Given the description of an element on the screen output the (x, y) to click on. 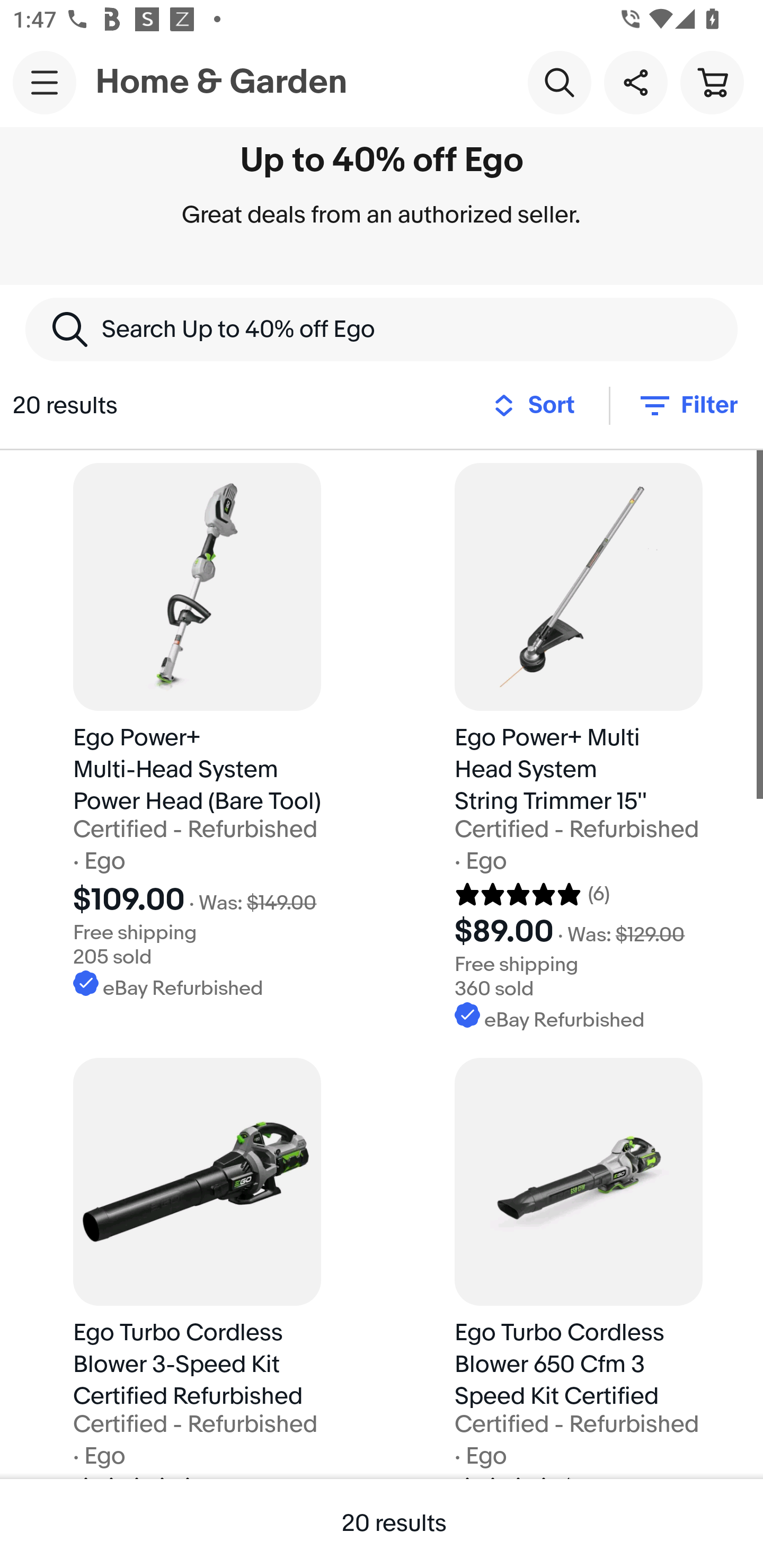
Main navigation, open (44, 82)
Search (559, 81)
Share this item (635, 81)
Cart button shopping cart (711, 81)
Search Up to 40% off Ego (381, 328)
Sort (538, 405)
Filter (686, 405)
